Given the description of an element on the screen output the (x, y) to click on. 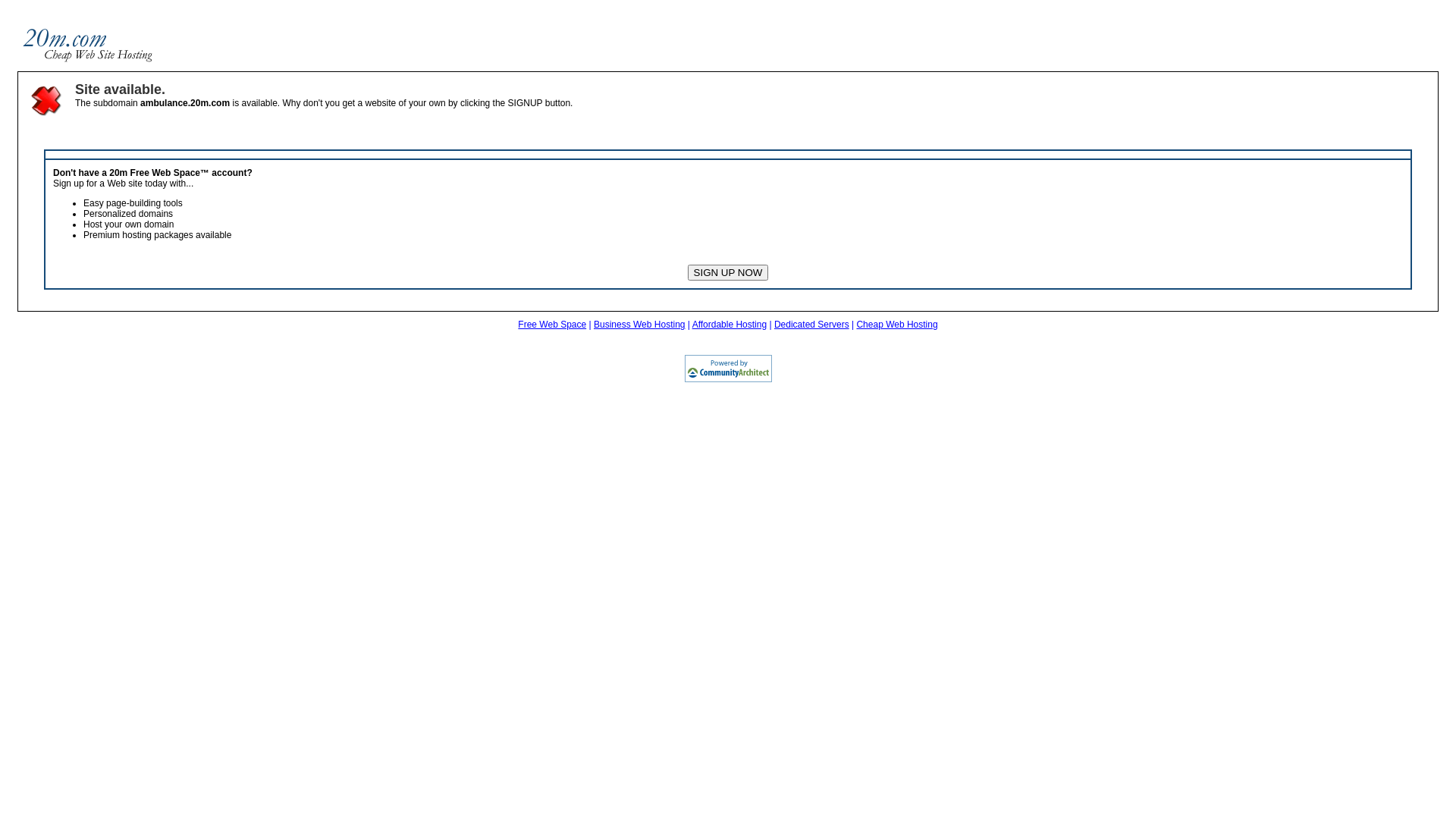
Affordable Hosting Element type: text (729, 324)
Free Web Space Element type: text (551, 324)
Business Web Hosting Element type: text (639, 324)
Cheap Web Hosting Element type: text (896, 324)
Dedicated Servers Element type: text (811, 324)
SIGN UP NOW Element type: text (727, 272)
